Given the description of an element on the screen output the (x, y) to click on. 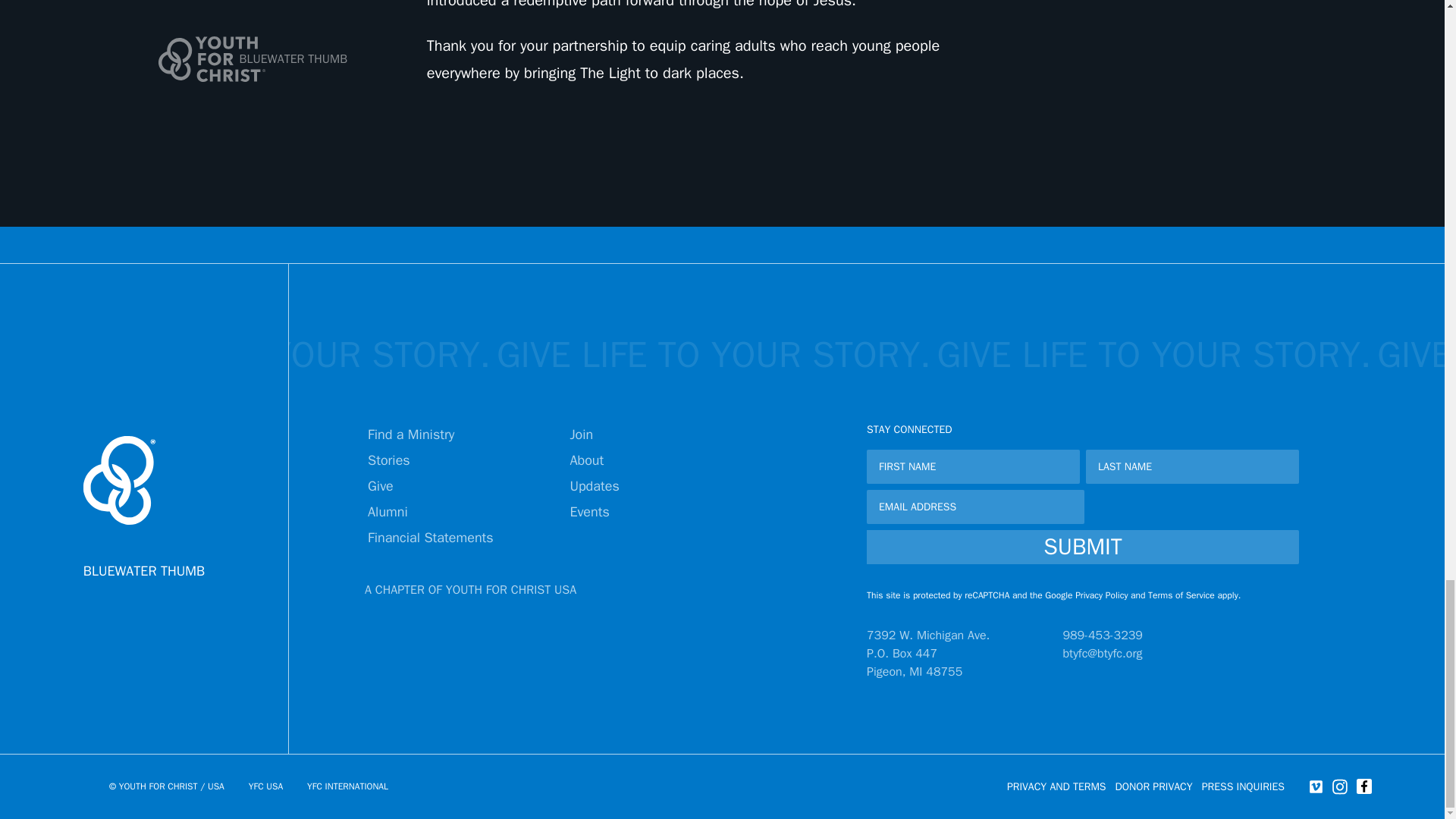
Find a Ministry (411, 434)
Updates (593, 485)
Give (380, 485)
Privacy Policy (1100, 594)
Financial Statements (430, 537)
Stories (389, 460)
About (586, 460)
Submit (1082, 546)
Events (589, 511)
Alumni (387, 511)
Submit (1082, 546)
Join (580, 434)
Terms of Service (1181, 594)
